Given the description of an element on the screen output the (x, y) to click on. 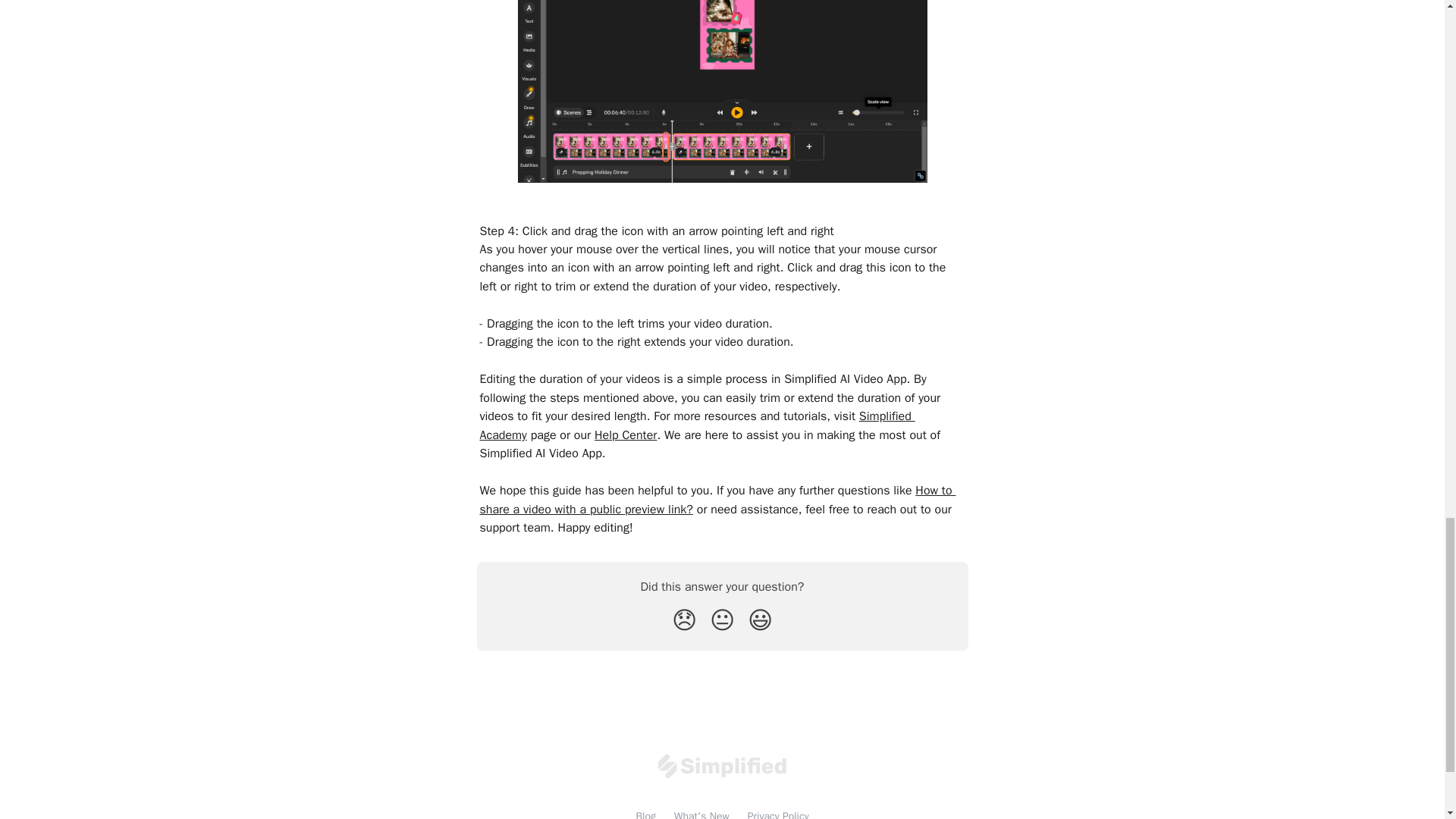
Blog (645, 814)
What's New (701, 814)
Help Center (625, 435)
How to share a video with a public preview link? (717, 499)
Privacy Policy (778, 814)
Simplified Academy (696, 425)
